Given the description of an element on the screen output the (x, y) to click on. 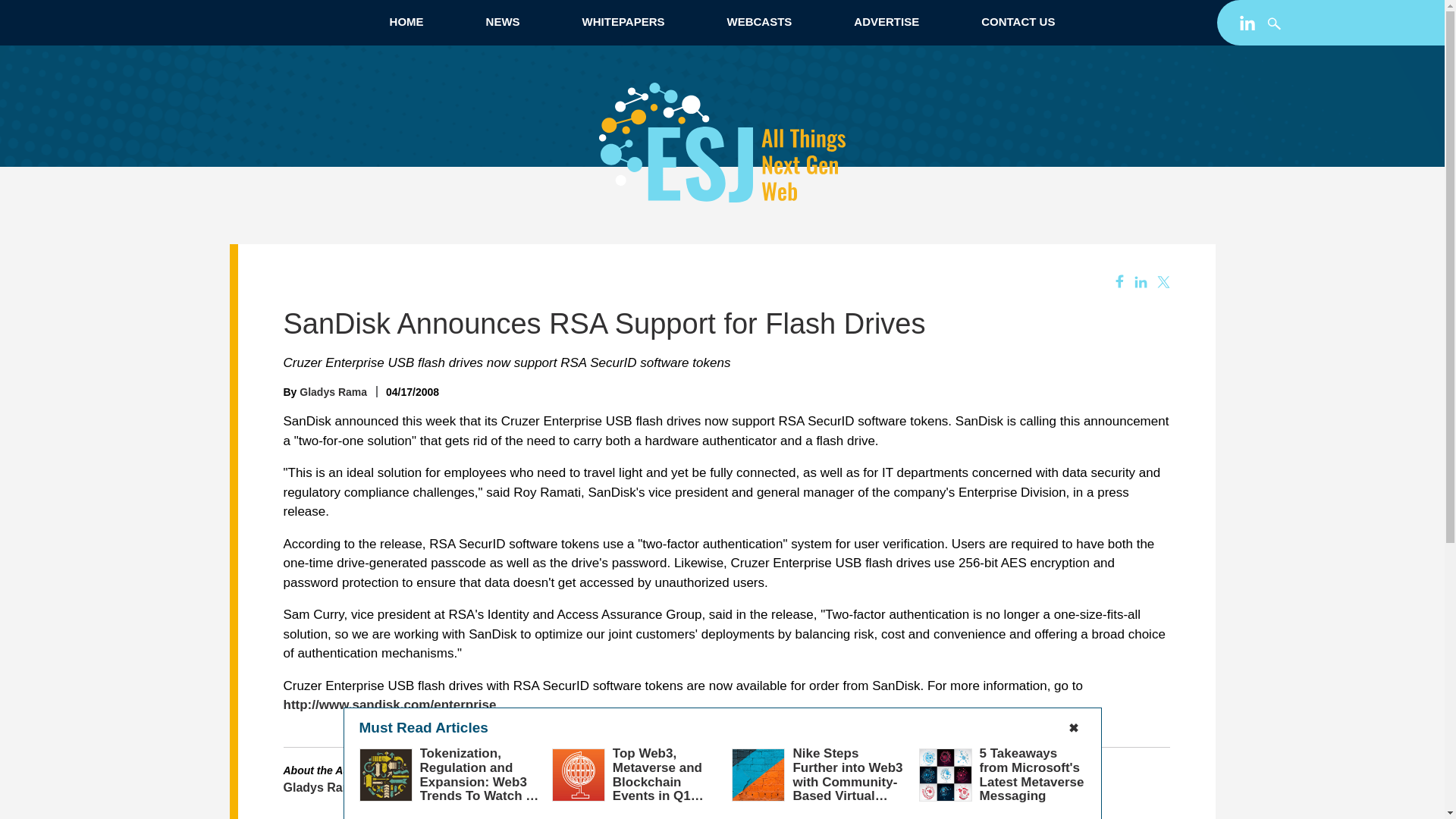
WHITEPAPERS (622, 21)
HOME (406, 21)
NEWS (502, 21)
5 Takeaways from Microsoft's Latest Metaverse Messaging (1031, 774)
CONTACT US (1017, 21)
Top Web3, Metaverse and Blockchain Events in Q1 2023 (657, 781)
WEBCASTS (758, 21)
ADVERTISE (886, 21)
Gladys Rama (321, 787)
